Given the description of an element on the screen output the (x, y) to click on. 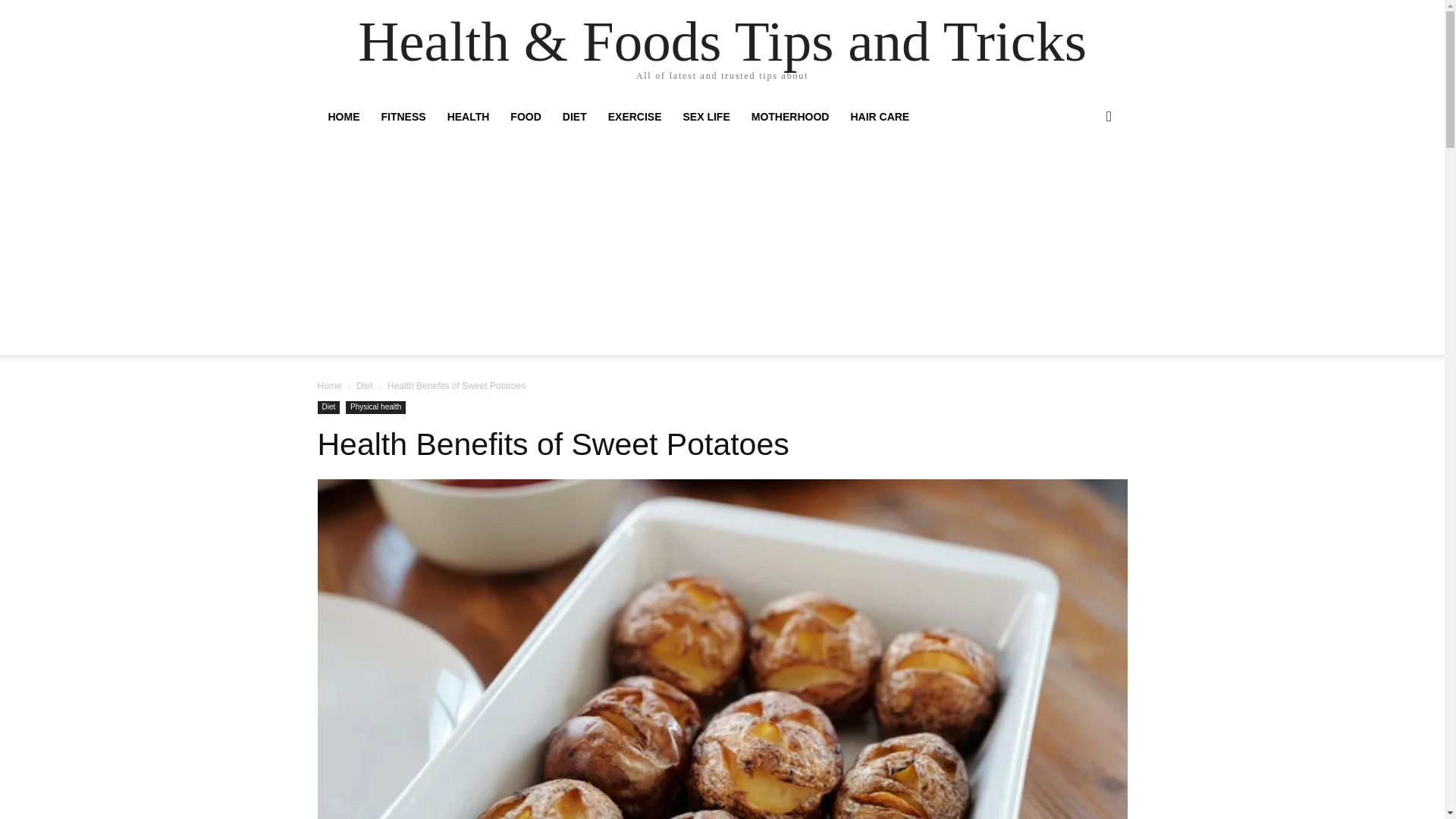
Home (328, 385)
FOOD (525, 116)
HEALTH (468, 116)
Diet (364, 385)
Search (1085, 177)
FITNESS (402, 116)
SEX LIFE (706, 116)
View all posts in Diet (364, 385)
DIET (573, 116)
Diet (328, 407)
HAIR CARE (880, 116)
EXERCISE (634, 116)
Physical health (376, 407)
Health Benefits of Sweet Potatoes (553, 443)
